Given the description of an element on the screen output the (x, y) to click on. 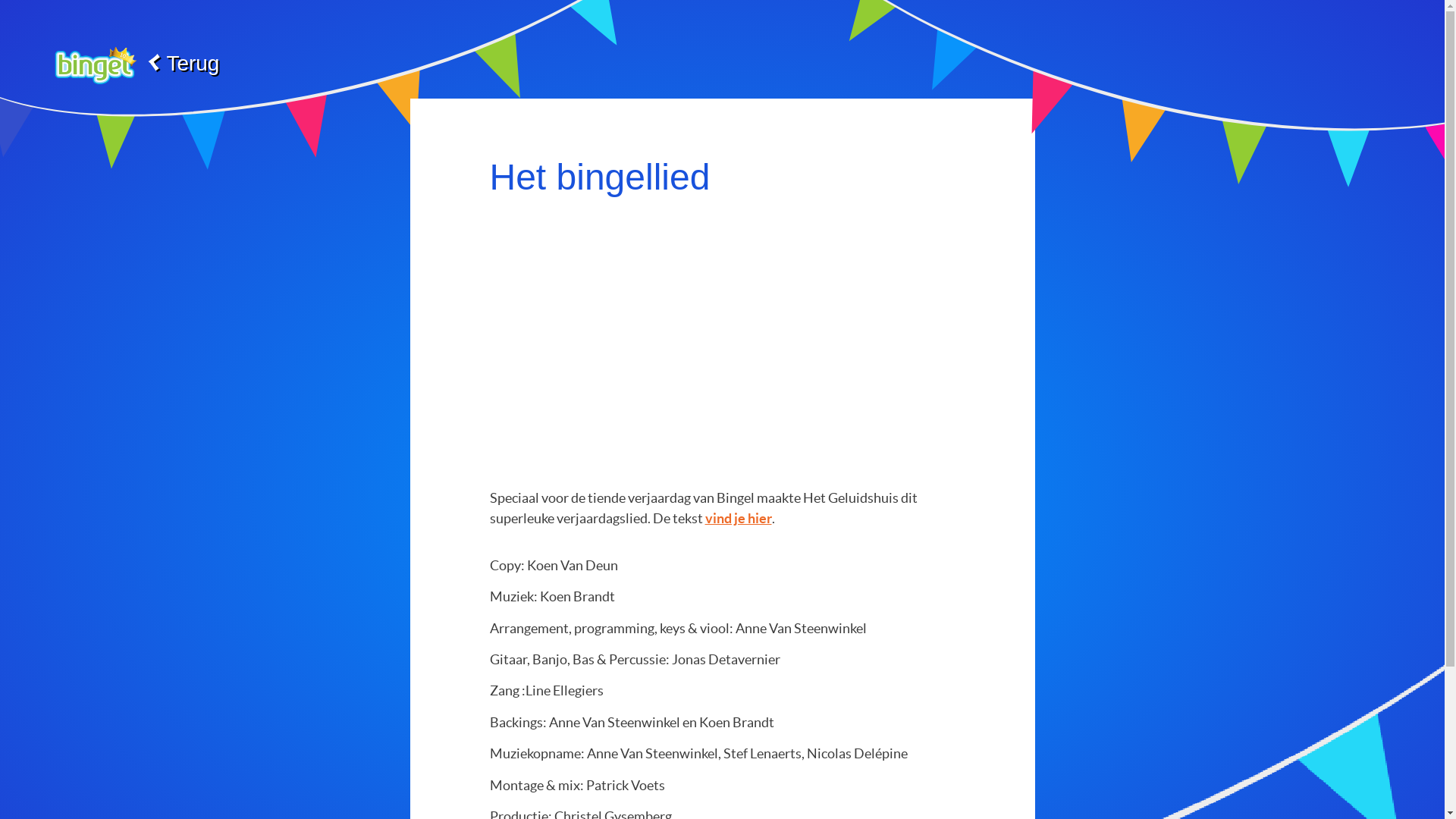
vind je hier Element type: text (738, 518)
Terug Element type: text (132, 63)
